Given the description of an element on the screen output the (x, y) to click on. 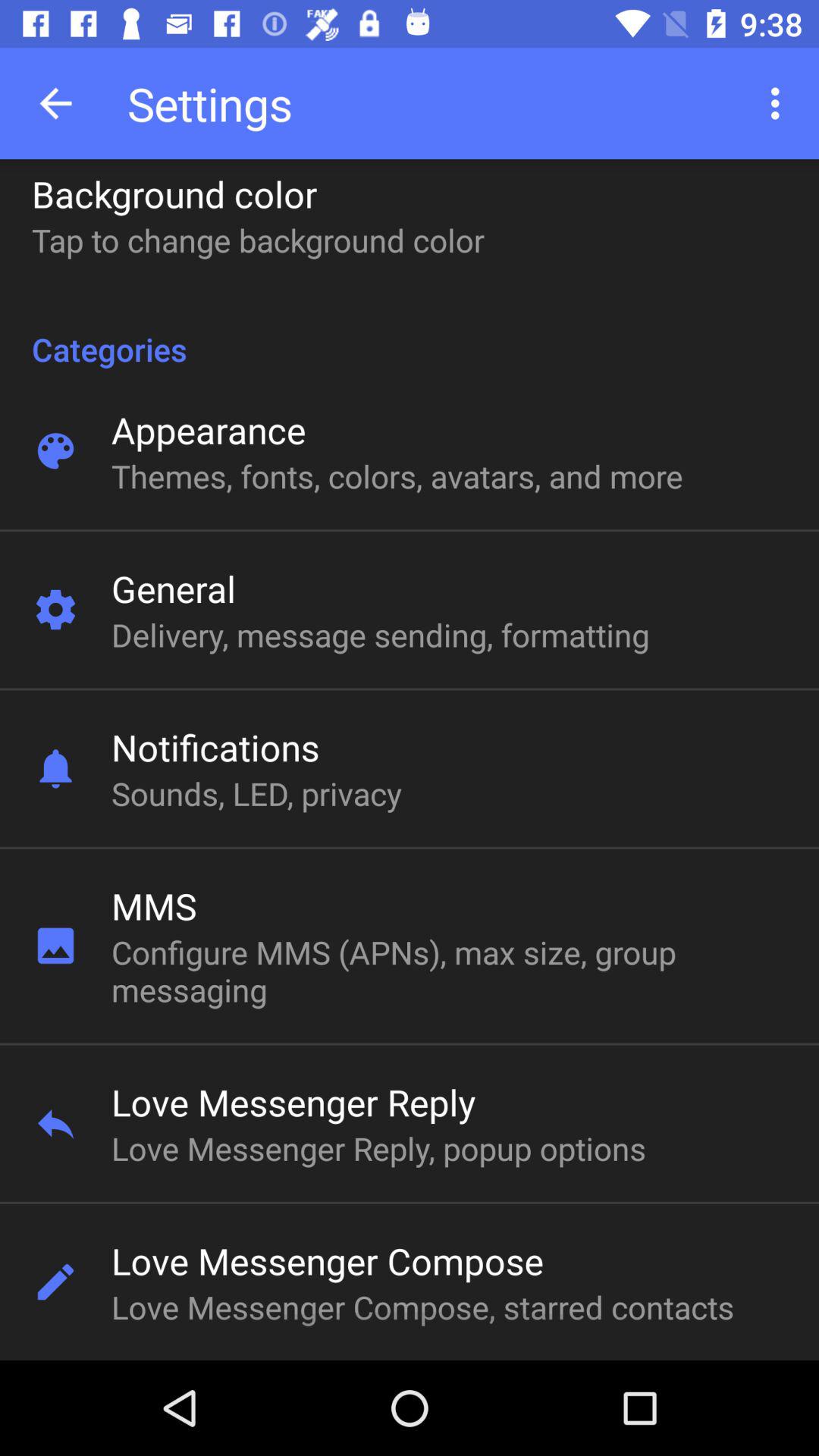
scroll until the sounds, led, privacy (256, 793)
